Given the description of an element on the screen output the (x, y) to click on. 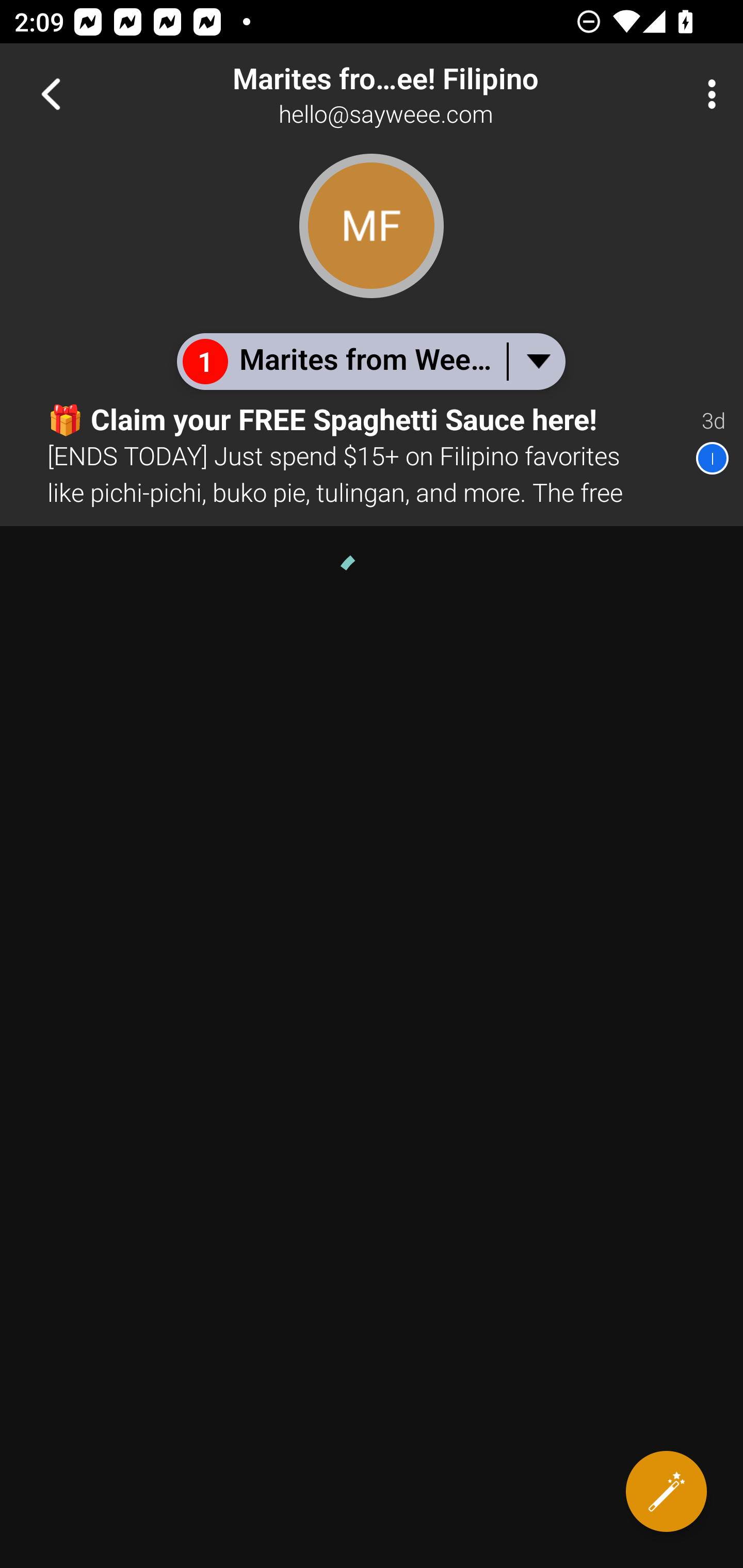
Navigate up (50, 93)
Marites from Weee! Filipino hello@sayweee.com (436, 93)
More Options (706, 93)
1 Marites from Weee! Filipino & You (370, 361)
